Given the description of an element on the screen output the (x, y) to click on. 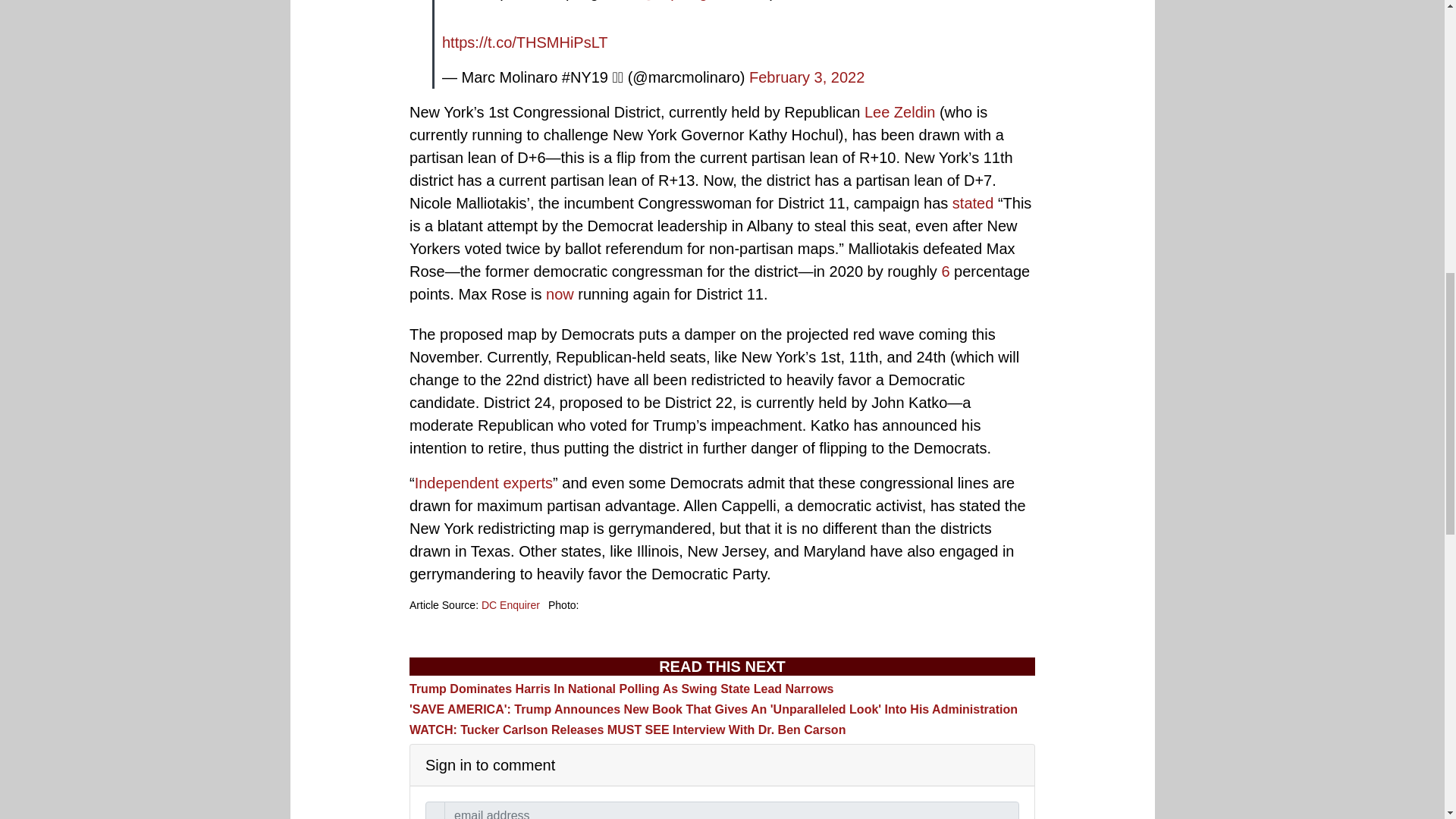
6 (944, 271)
February 3, 2022 (806, 76)
stated (972, 202)
DC Enquirer (510, 604)
Lee Zeldin (899, 112)
Independent experts (483, 483)
now (559, 293)
